Given the description of an element on the screen output the (x, y) to click on. 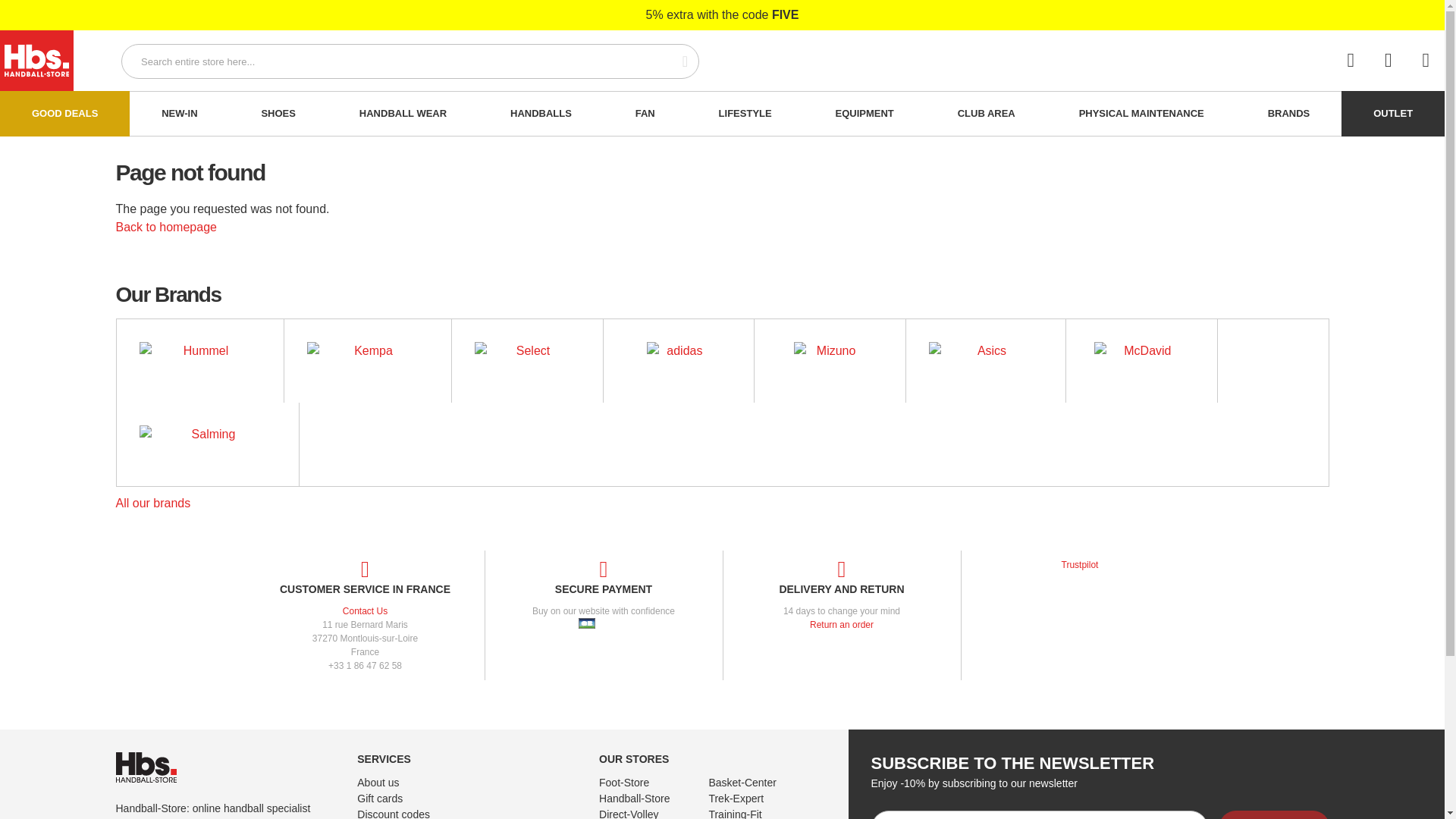
SHOES (278, 113)
NEW-IN (178, 113)
Subscribe (1273, 814)
SEARCH (675, 61)
GOOD DEALS (64, 113)
Sign up for our newsletter (1039, 814)
Search (675, 61)
